Given the description of an element on the screen output the (x, y) to click on. 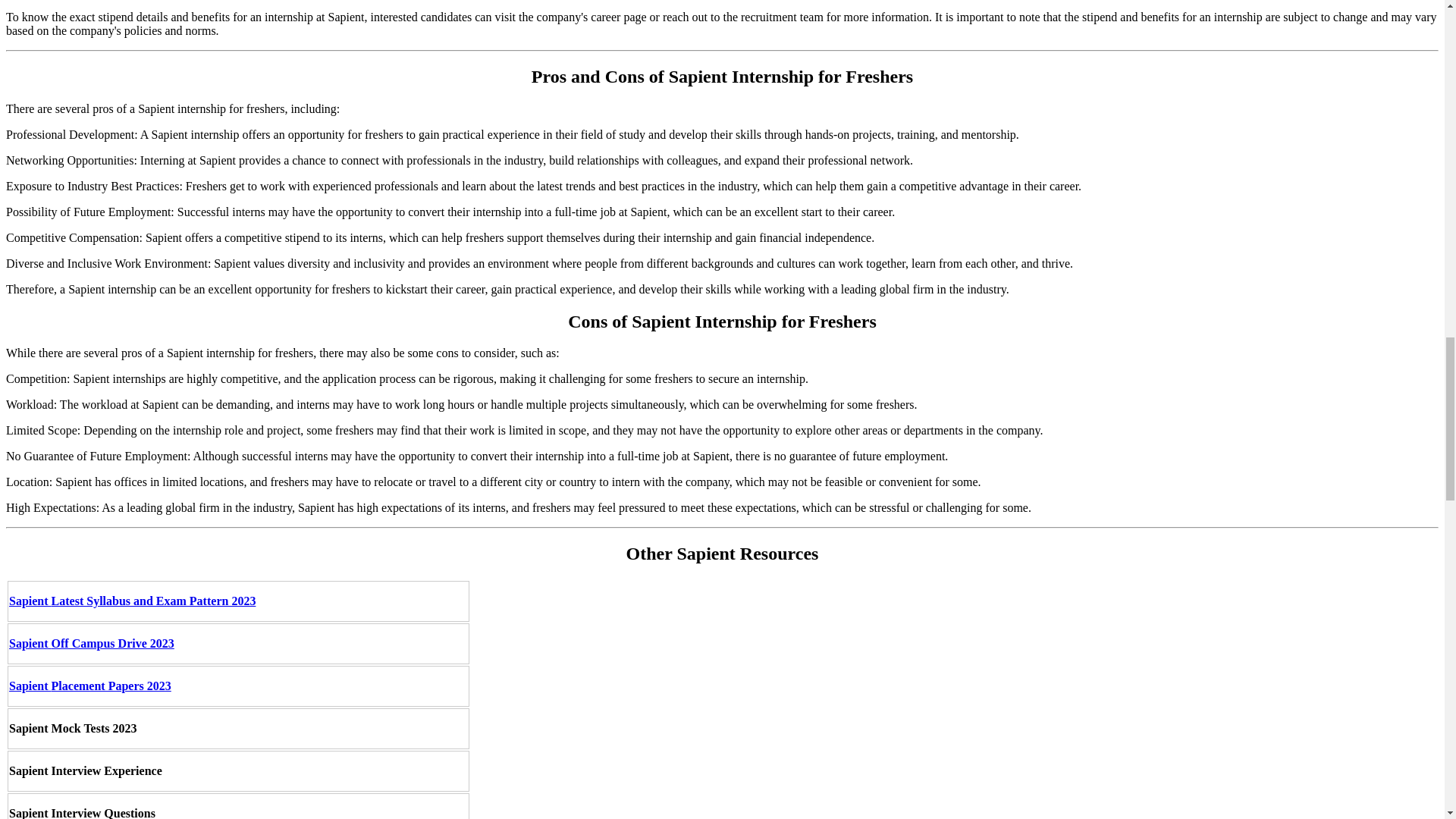
Sapient Placement Papers 2023 (89, 685)
Sapient Latest Syllabus and Exam Pattern 2023 (132, 600)
Sapient Off Campus Drive 2023 (91, 643)
